Given the description of an element on the screen output the (x, y) to click on. 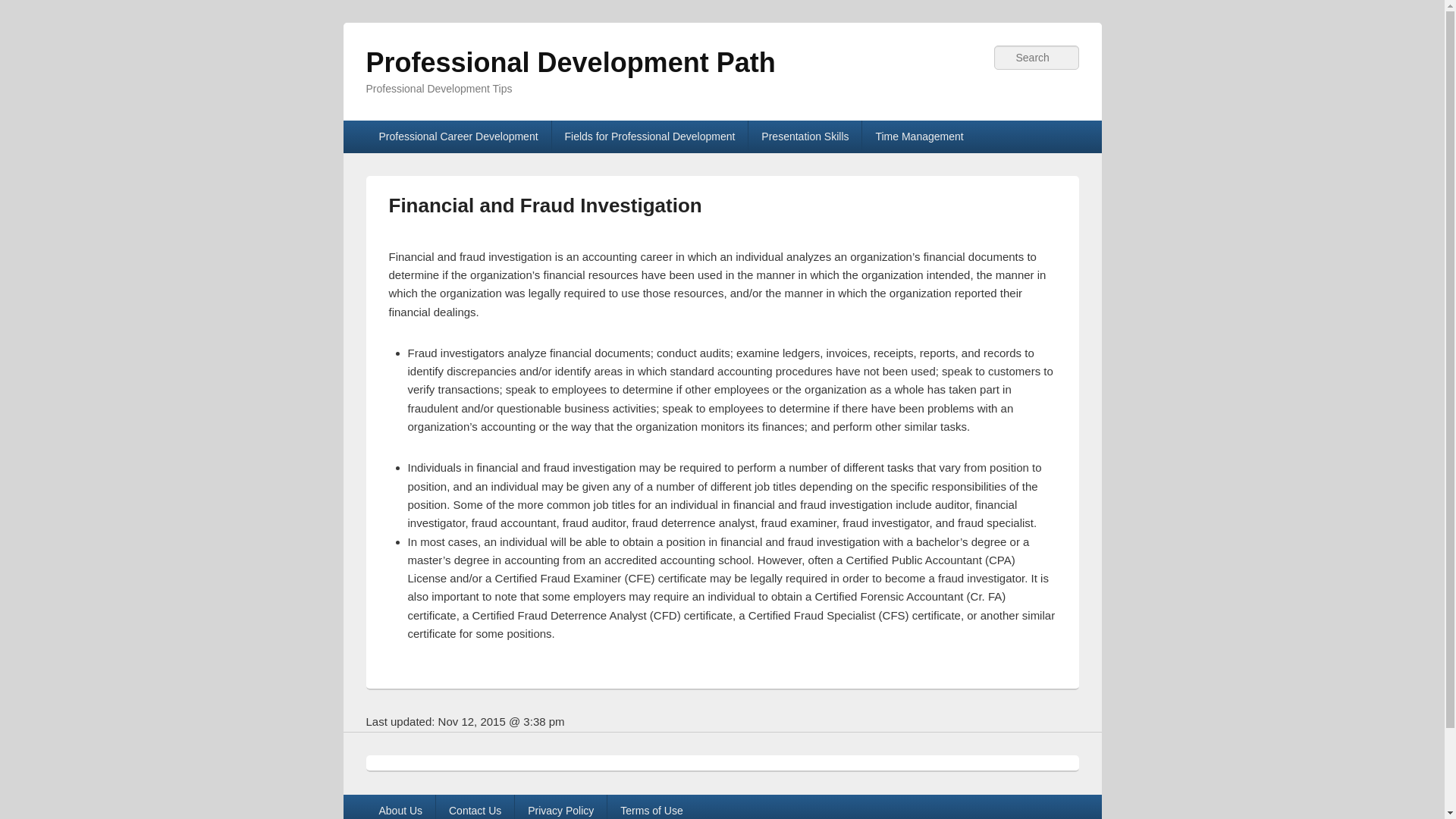
Time Management (918, 136)
Skip to secondary content (430, 129)
Skip to primary content (423, 129)
Professional Development Path (569, 61)
Permalink to Financial and Fraud Investigation (544, 205)
Skip to primary content (423, 129)
Search (21, 11)
Fields for Professional Development (649, 136)
Skip to secondary content (430, 129)
Financial and Fraud Investigation (544, 205)
Presentation Skills (804, 136)
Professional Development Path (569, 61)
Professional Career Development (457, 136)
